Given the description of an element on the screen output the (x, y) to click on. 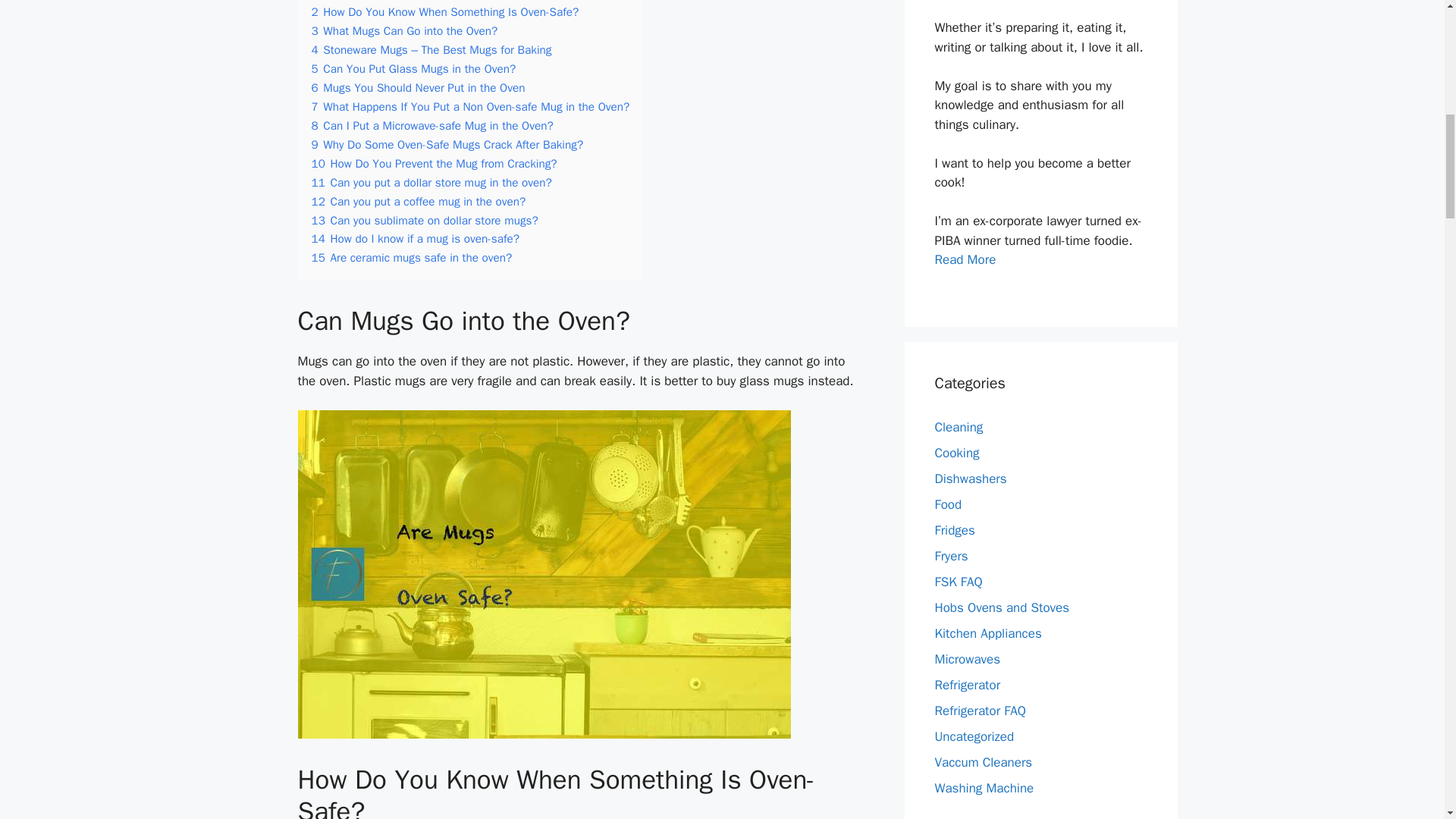
7 What Happens If You Put a Non Oven-safe Mug in the Oven? (469, 106)
2 How Do You Know When Something Is Oven-Safe? (444, 11)
13 Can you sublimate on dollar store mugs? (424, 220)
15 Are ceramic mugs safe in the oven? (411, 257)
14 How do I know if a mug is oven-safe? (415, 238)
12 Can you put a coffee mug in the oven? (418, 201)
9 Why Do Some Oven-Safe Mugs Crack After Baking? (447, 144)
5 Can You Put Glass Mugs in the Oven? (413, 68)
11 Can you put a dollar store mug in the oven? (431, 182)
8 Can I Put a Microwave-safe Mug in the Oven? (432, 125)
3 What Mugs Can Go into the Oven? (404, 30)
6 Mugs You Should Never Put in the Oven (417, 87)
10 How Do You Prevent the Mug from Cracking? (433, 163)
